Given the description of an element on the screen output the (x, y) to click on. 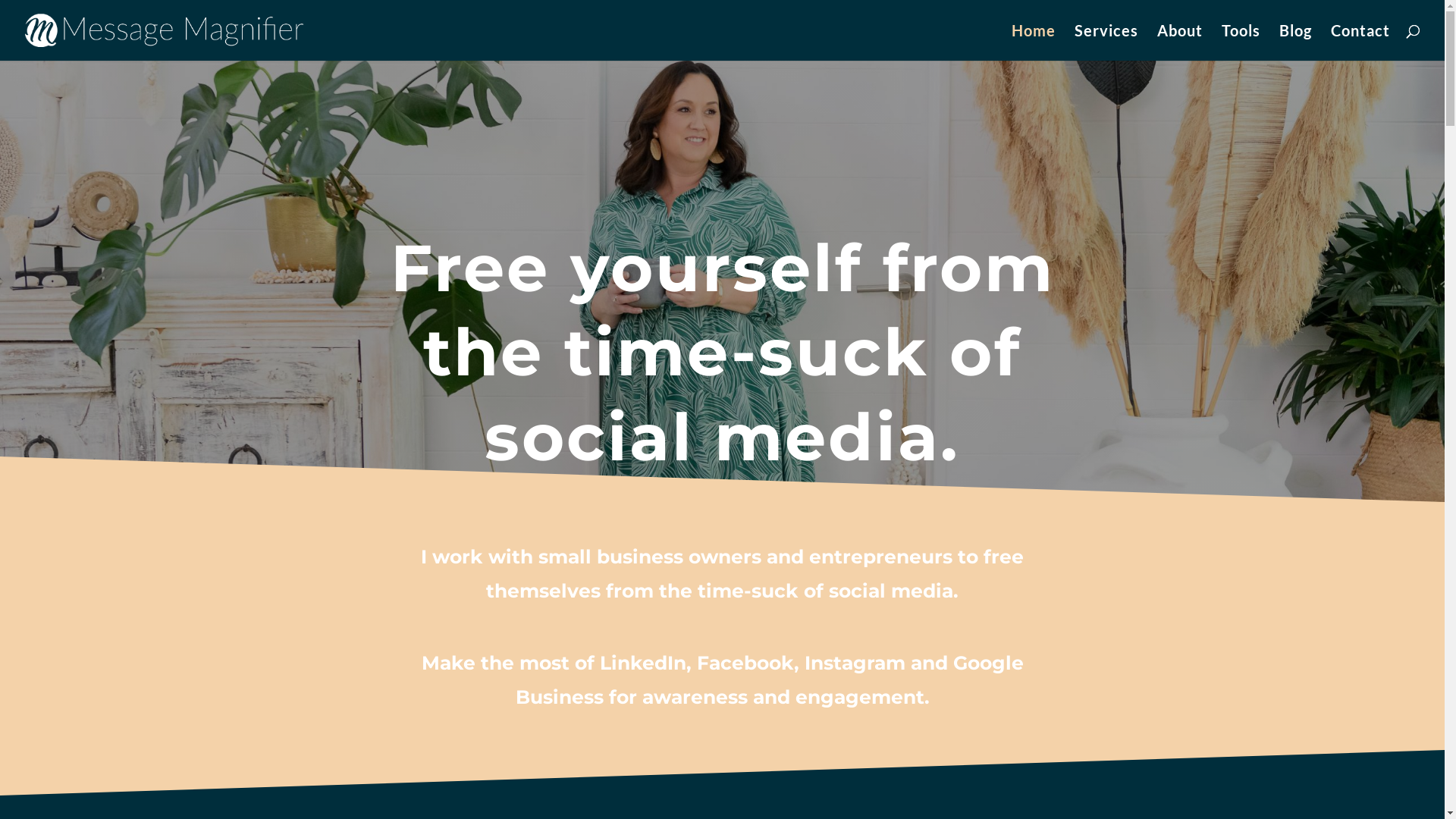
Services Element type: text (1106, 42)
About Element type: text (1179, 42)
Tools Element type: text (1240, 42)
Contact Element type: text (1360, 42)
Home Element type: text (1033, 42)
Blog Element type: text (1295, 42)
